Given the description of an element on the screen output the (x, y) to click on. 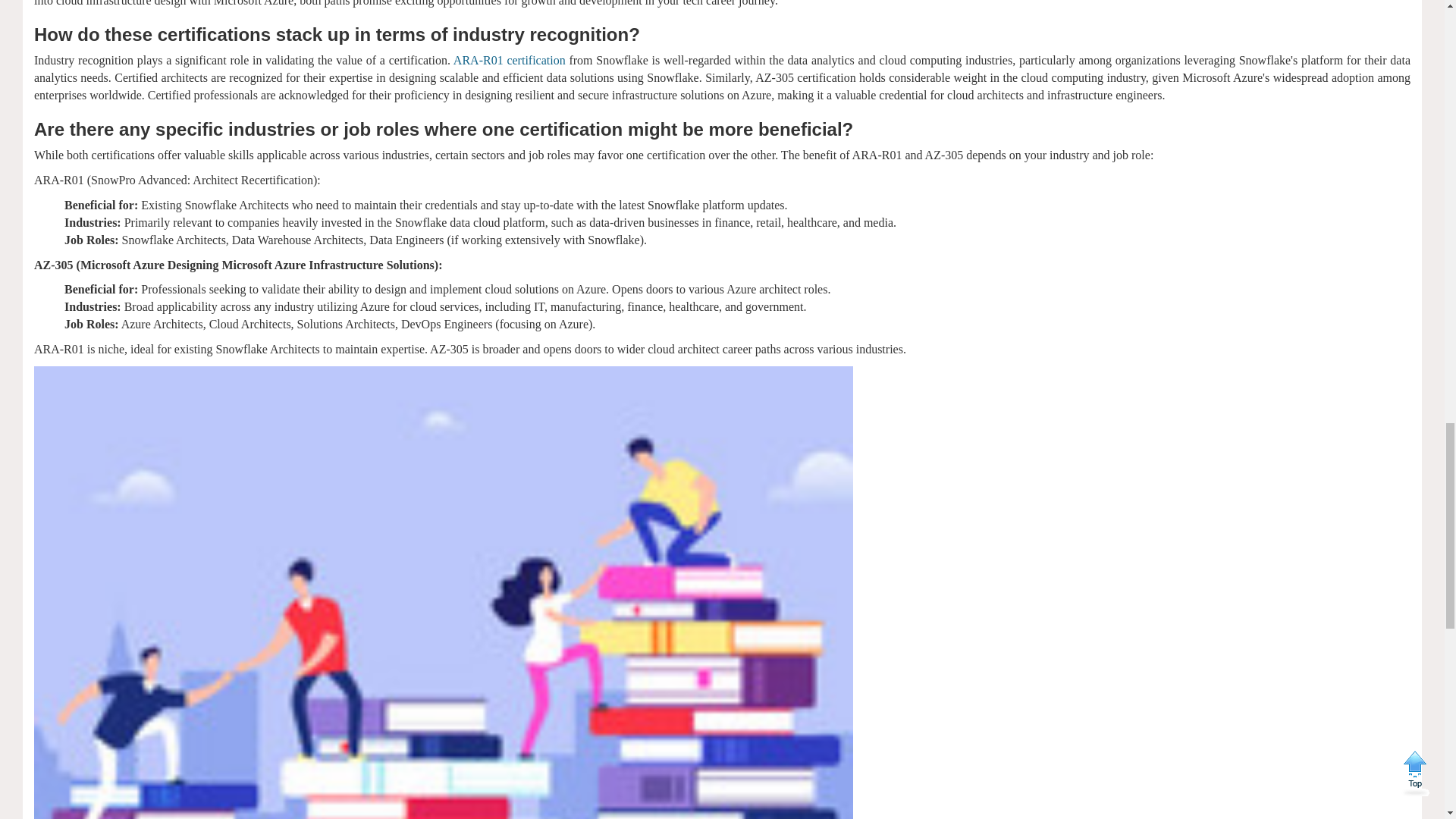
ARA-R01 certification (509, 60)
